Given the description of an element on the screen output the (x, y) to click on. 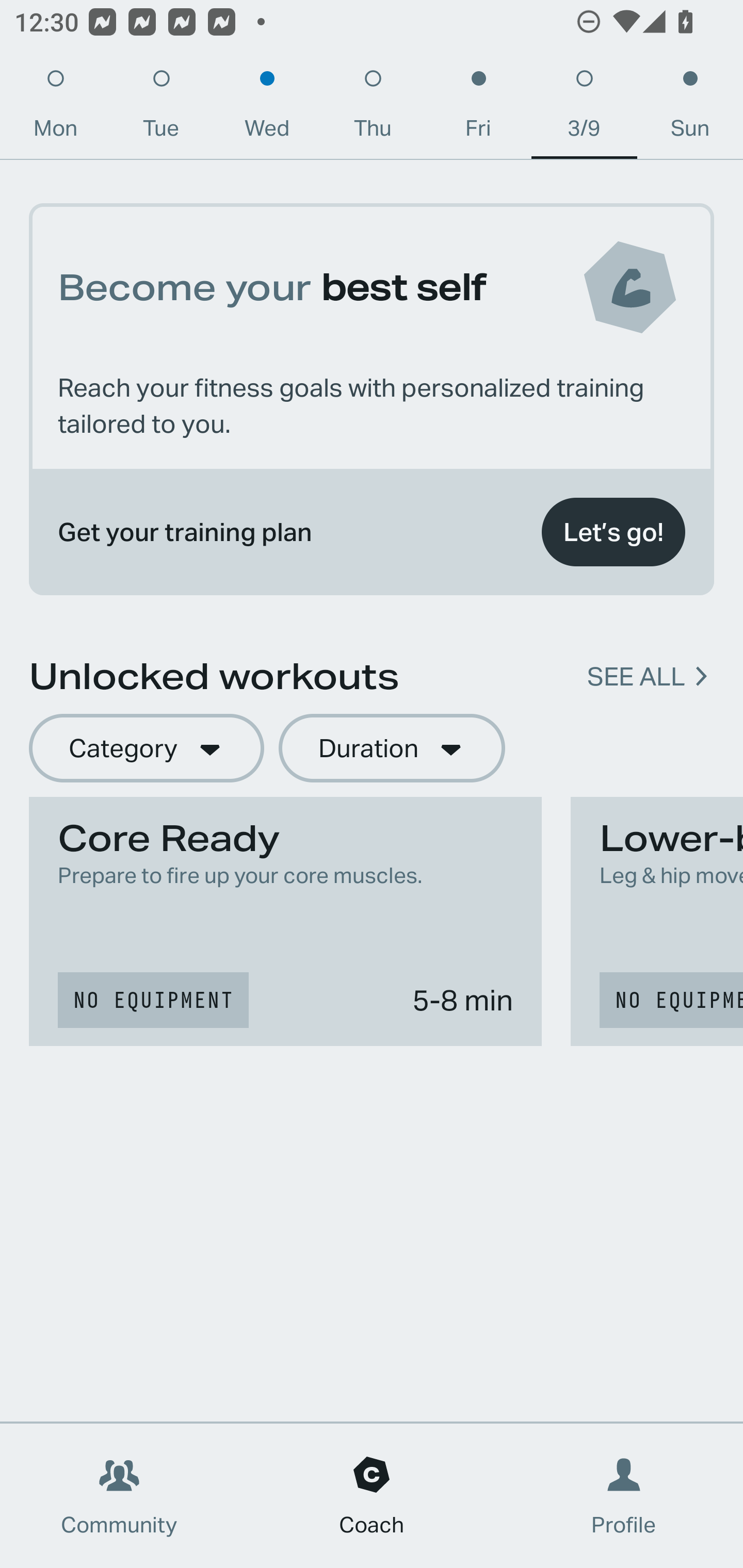
Mon (55, 108)
Tue (160, 108)
Wed (266, 108)
Thu (372, 108)
Fri (478, 108)
3/9 (584, 108)
Sun (690, 108)
Let’s go! (613, 532)
SEE ALL (635, 676)
Category (146, 748)
Duration (391, 748)
Community (119, 1495)
Profile (624, 1495)
